Given the description of an element on the screen output the (x, y) to click on. 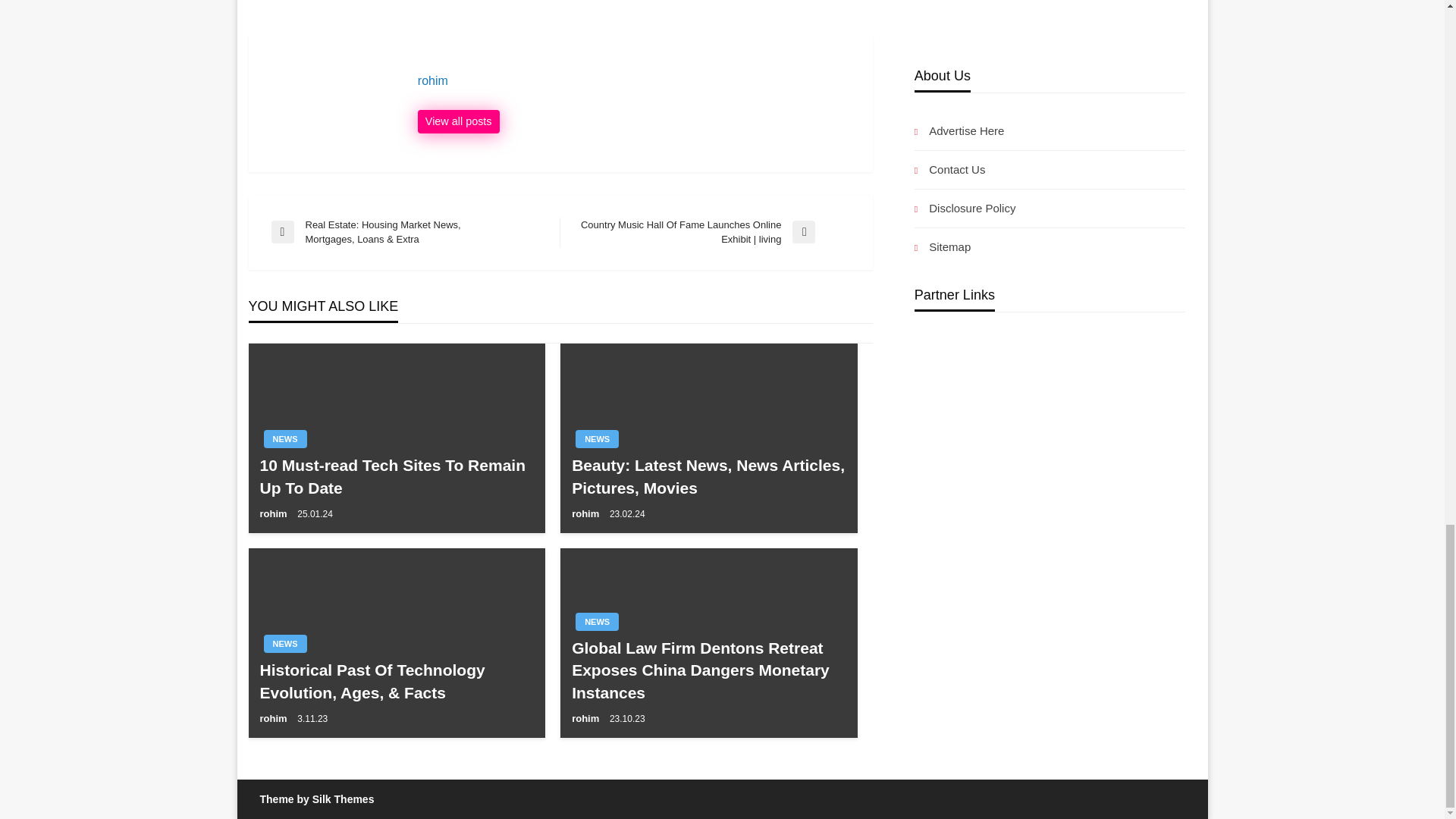
rohim (637, 80)
View all posts (458, 121)
rohim (274, 513)
10 Must-read Tech Sites To Remain Up To Date (396, 476)
rohim (274, 717)
NEWS (285, 643)
NEWS (285, 438)
rohim (587, 513)
rohim (458, 121)
rohim (637, 80)
Beauty: Latest News, News Articles, Pictures, Movies (708, 476)
NEWS (596, 621)
NEWS (596, 438)
